Given the description of an element on the screen output the (x, y) to click on. 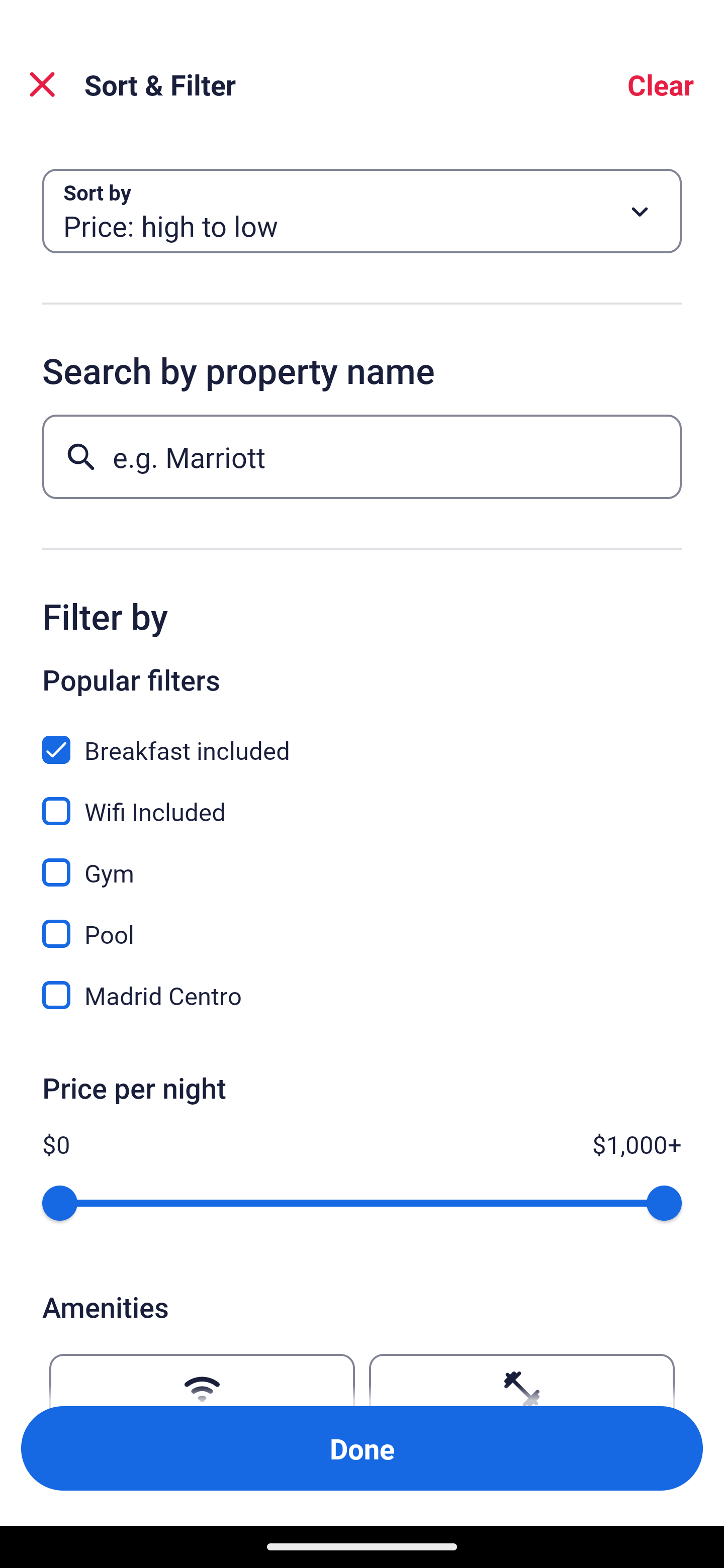
Close Sort and Filter (42, 84)
Clear (660, 84)
Sort by Button Price: high to low (361, 211)
e.g. Marriott Button (361, 455)
Breakfast included, Breakfast included (361, 738)
Wifi Included, Wifi Included (361, 800)
Gym, Gym (361, 861)
Pool, Pool (361, 922)
Madrid Centro, Madrid Centro (361, 995)
Apply and close Sort and Filter Done (361, 1448)
